Given the description of an element on the screen output the (x, y) to click on. 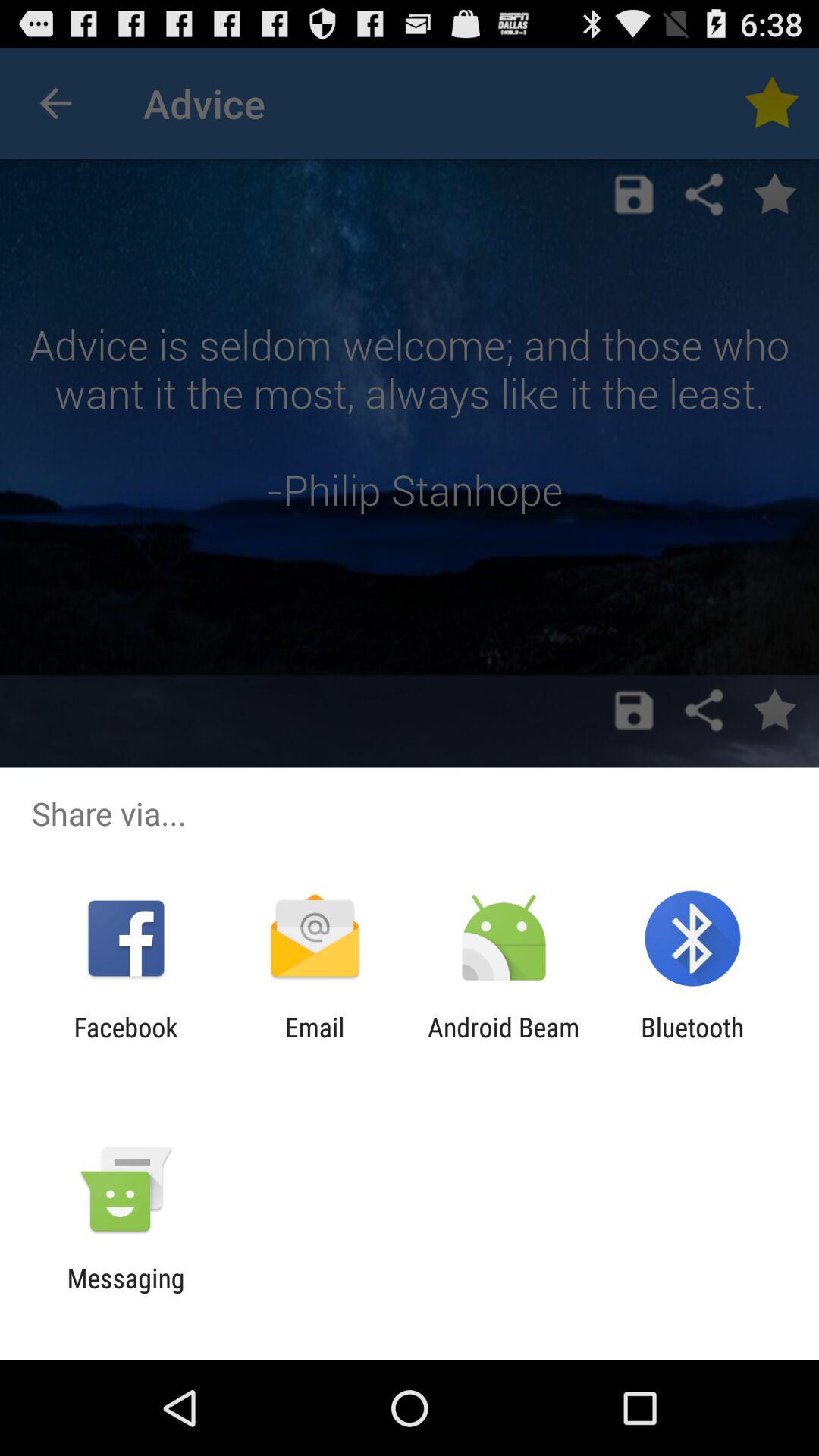
choose android beam item (503, 1042)
